Given the description of an element on the screen output the (x, y) to click on. 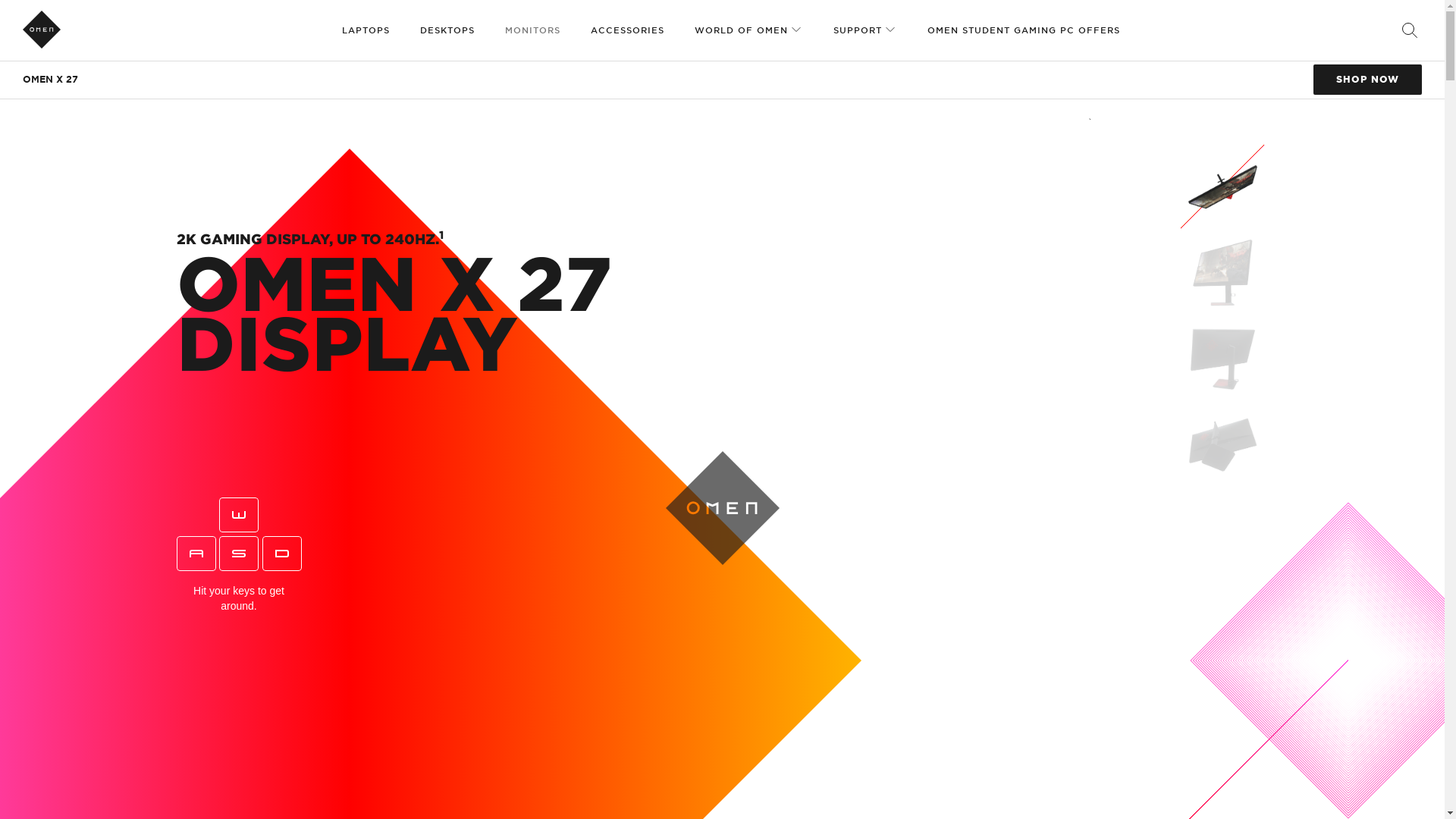
Desktops (447, 30)
ACCESSORIES (627, 30)
Monitors (532, 30)
Accessories (627, 30)
SHOP NOW (1367, 79)
Omen student gaming PC offers (1023, 30)
OMEN STUDENT GAMING PC OFFERS (1023, 30)
DESKTOPS (447, 30)
Omen HP Home (42, 29)
MONITORS (532, 30)
